Given the description of an element on the screen output the (x, y) to click on. 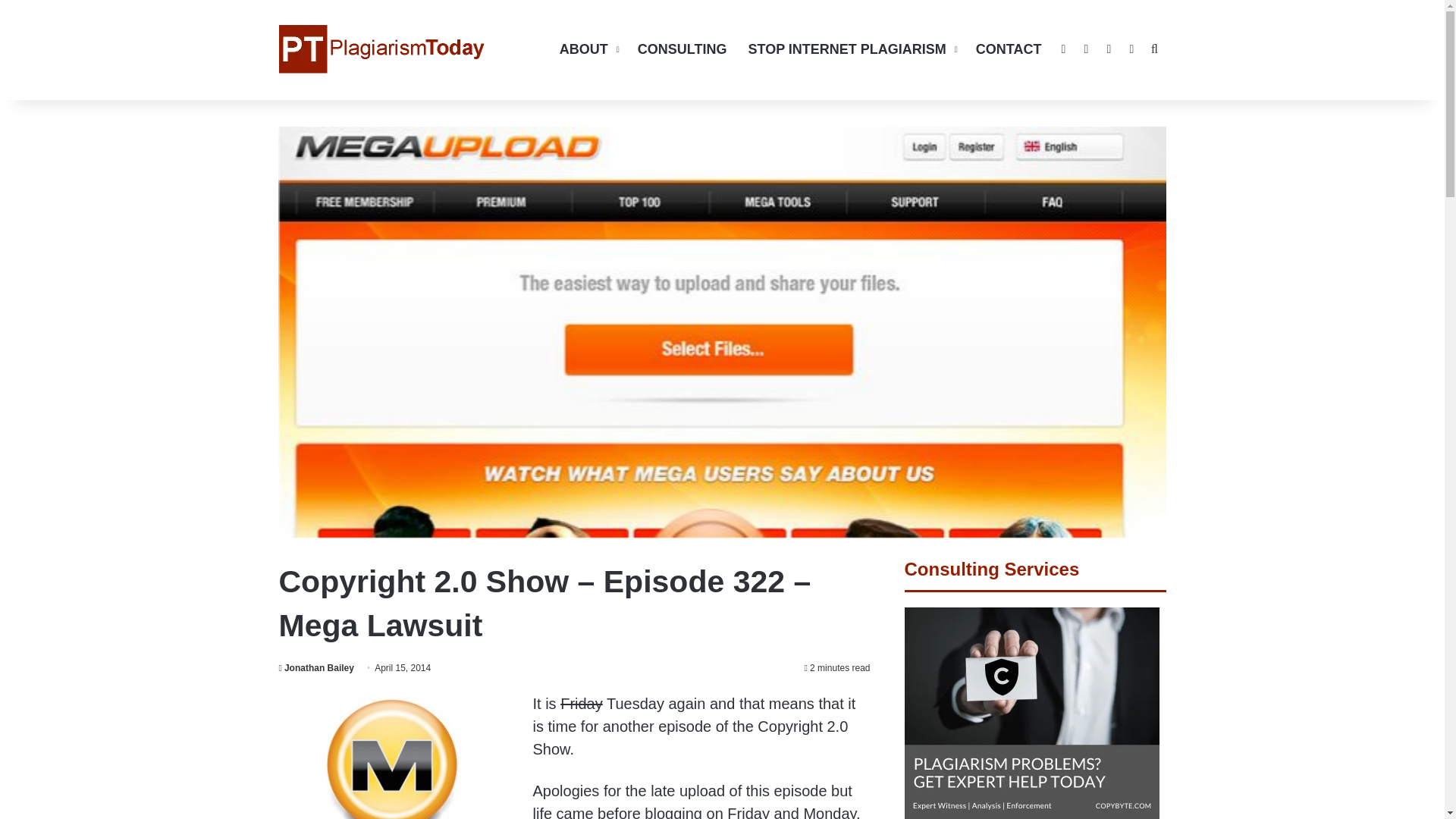
Plagiarism Today (381, 49)
Jonathan Bailey (316, 667)
Jonathan Bailey (316, 667)
STOP INTERNET PLAGIARISM (849, 49)
CONSULTING (682, 49)
